Given the description of an element on the screen output the (x, y) to click on. 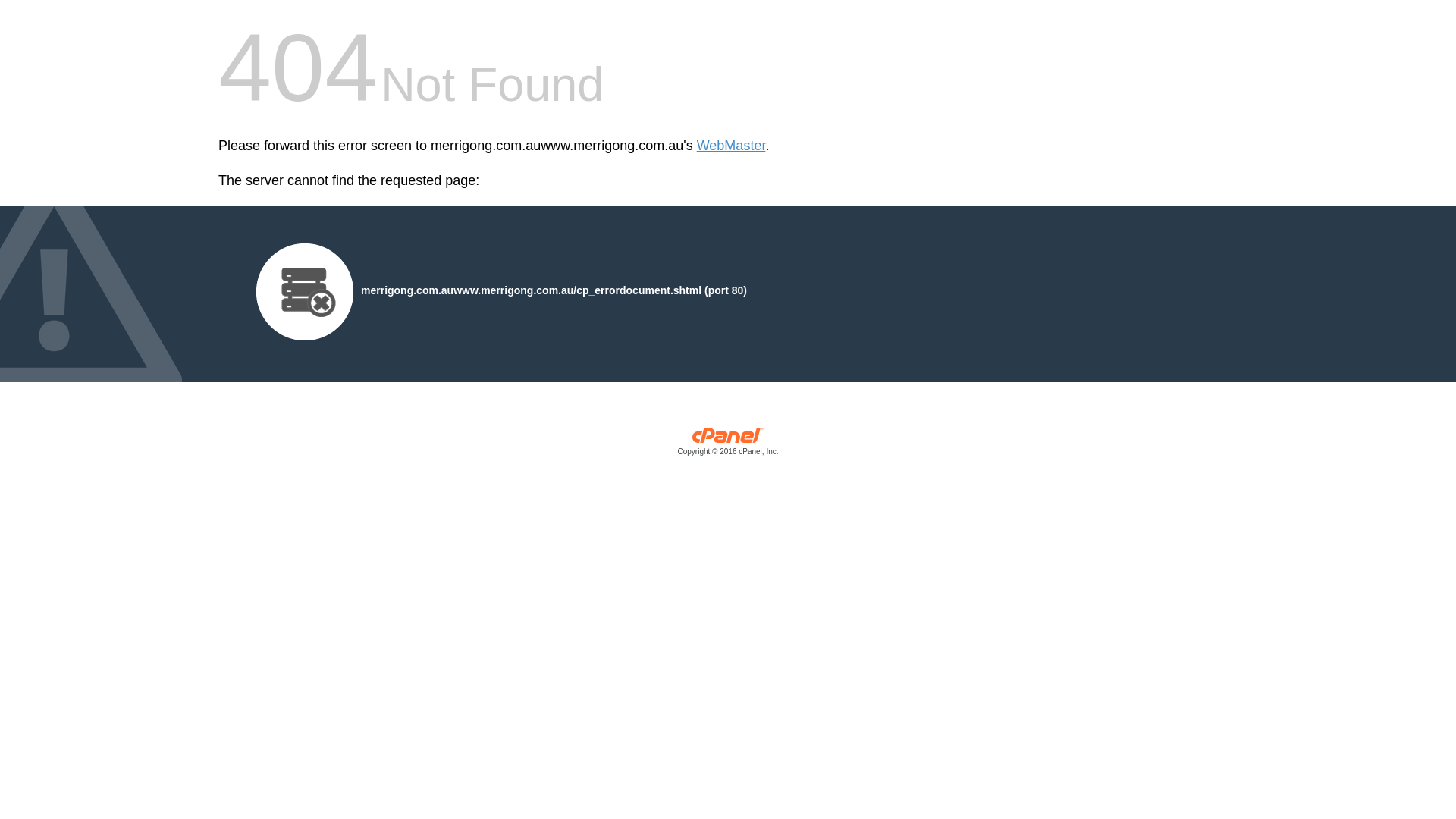
WebMaster Element type: text (730, 145)
